Given the description of an element on the screen output the (x, y) to click on. 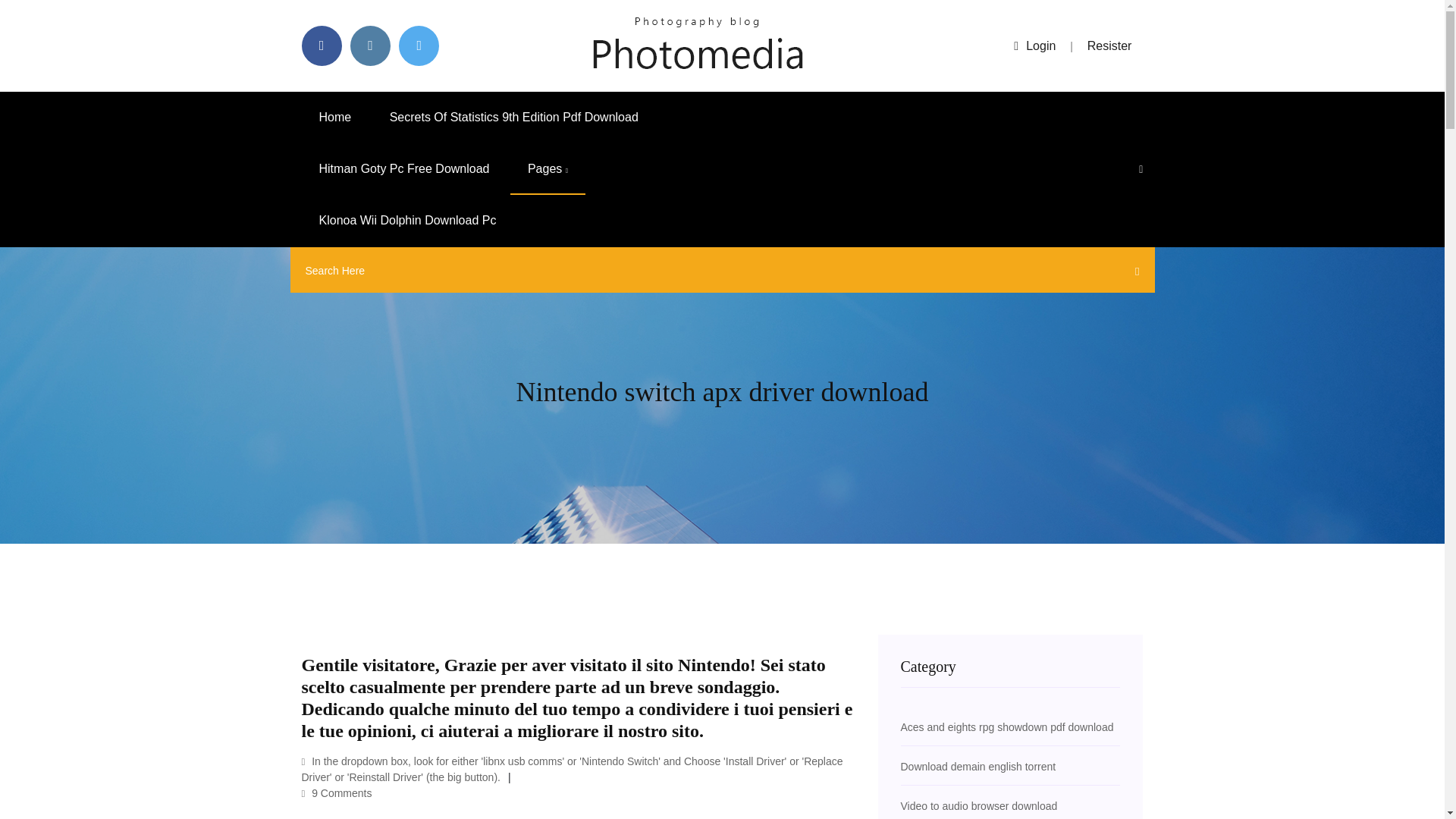
Resister (1109, 45)
Hitman Goty Pc Free Download (403, 168)
Pages (548, 168)
9 Comments (336, 793)
Klonoa Wii Dolphin Download Pc (407, 220)
Home (335, 117)
Secrets Of Statistics 9th Edition Pdf Download (514, 117)
Login (1034, 45)
